Given the description of an element on the screen output the (x, y) to click on. 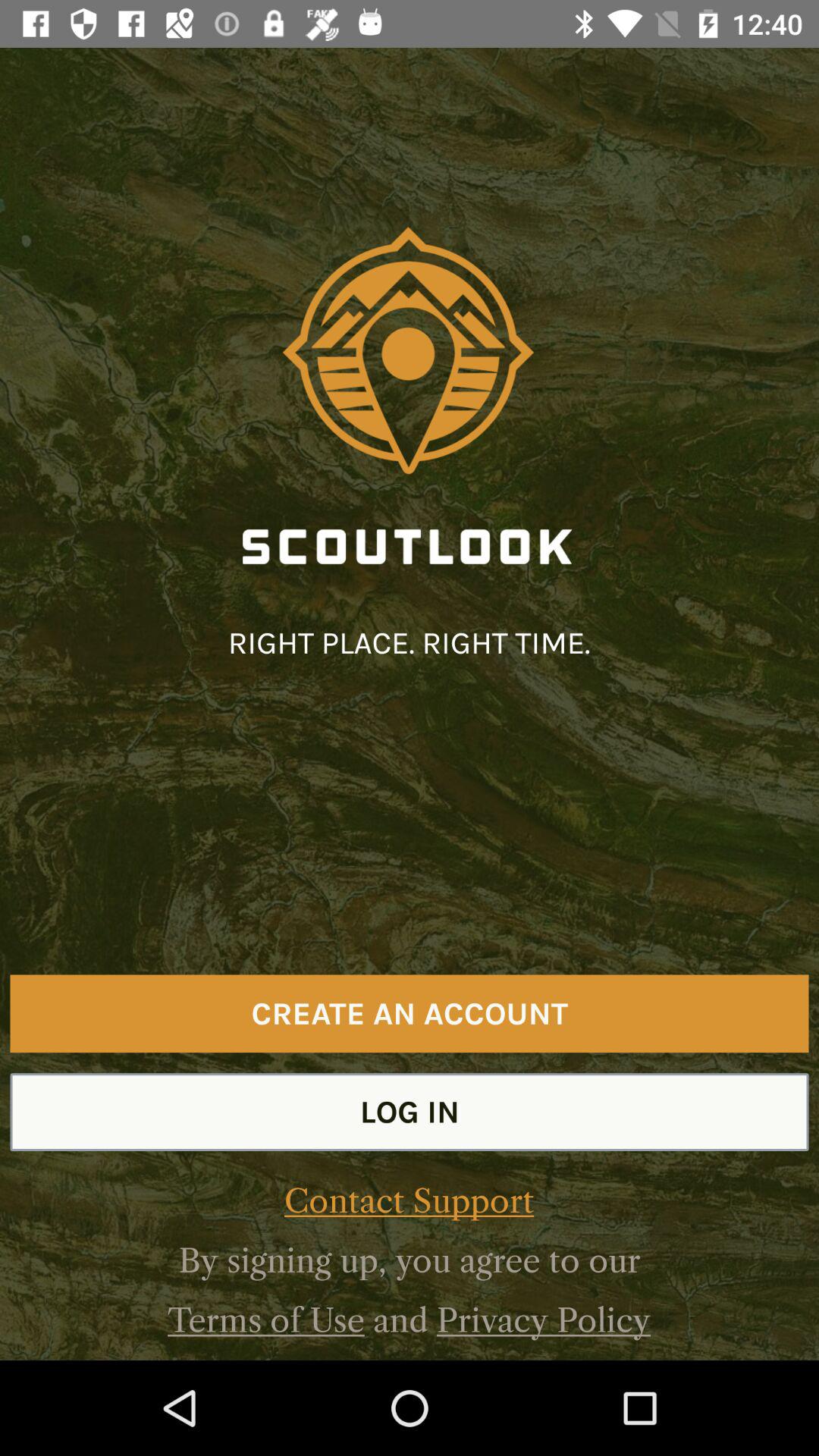
tap item below the create an account (409, 1112)
